Given the description of an element on the screen output the (x, y) to click on. 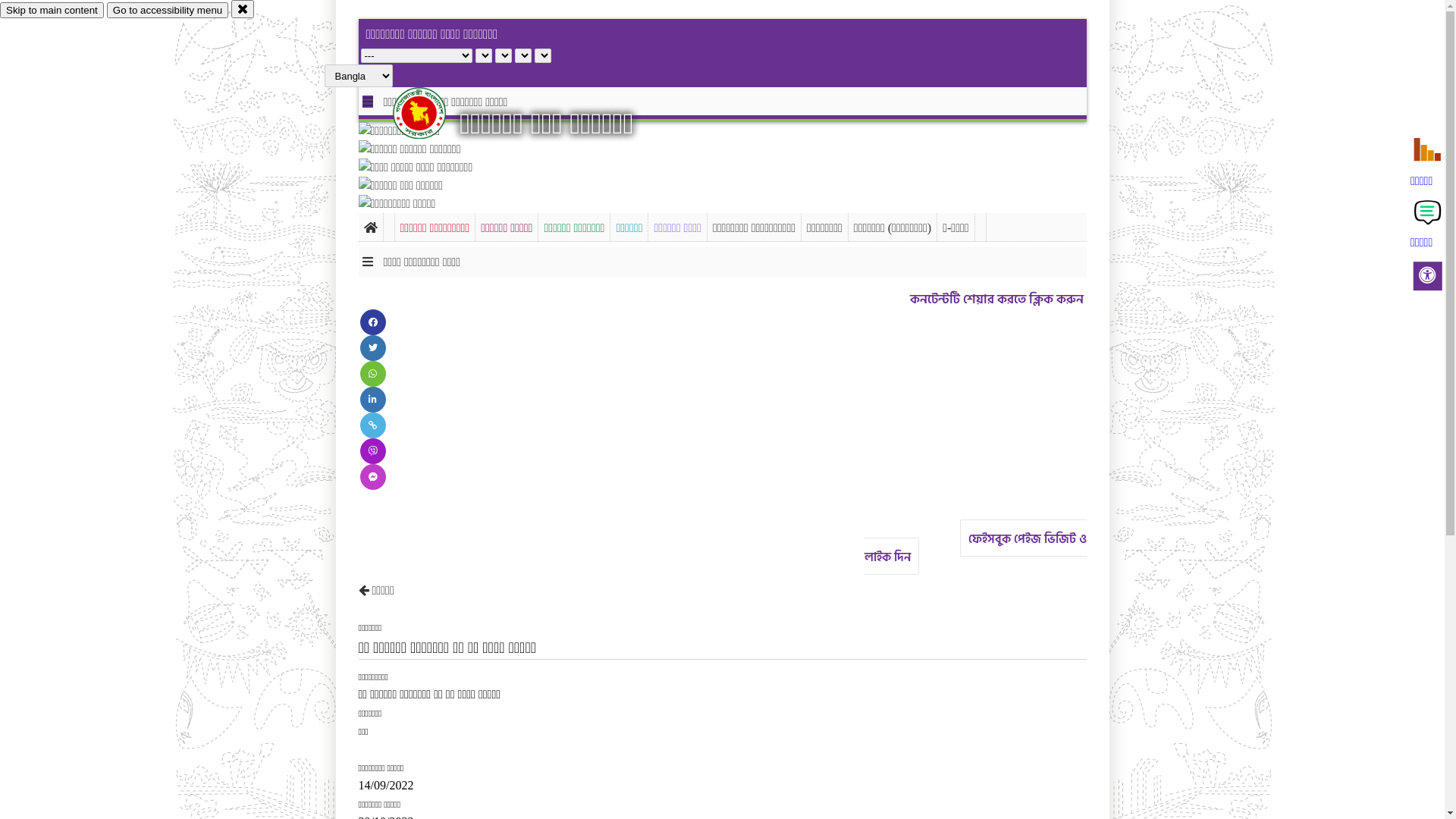
close Element type: hover (242, 9)
Go to accessibility menu Element type: text (167, 10)

                
             Element type: hover (431, 112)
Skip to main content Element type: text (51, 10)
